Given the description of an element on the screen output the (x, y) to click on. 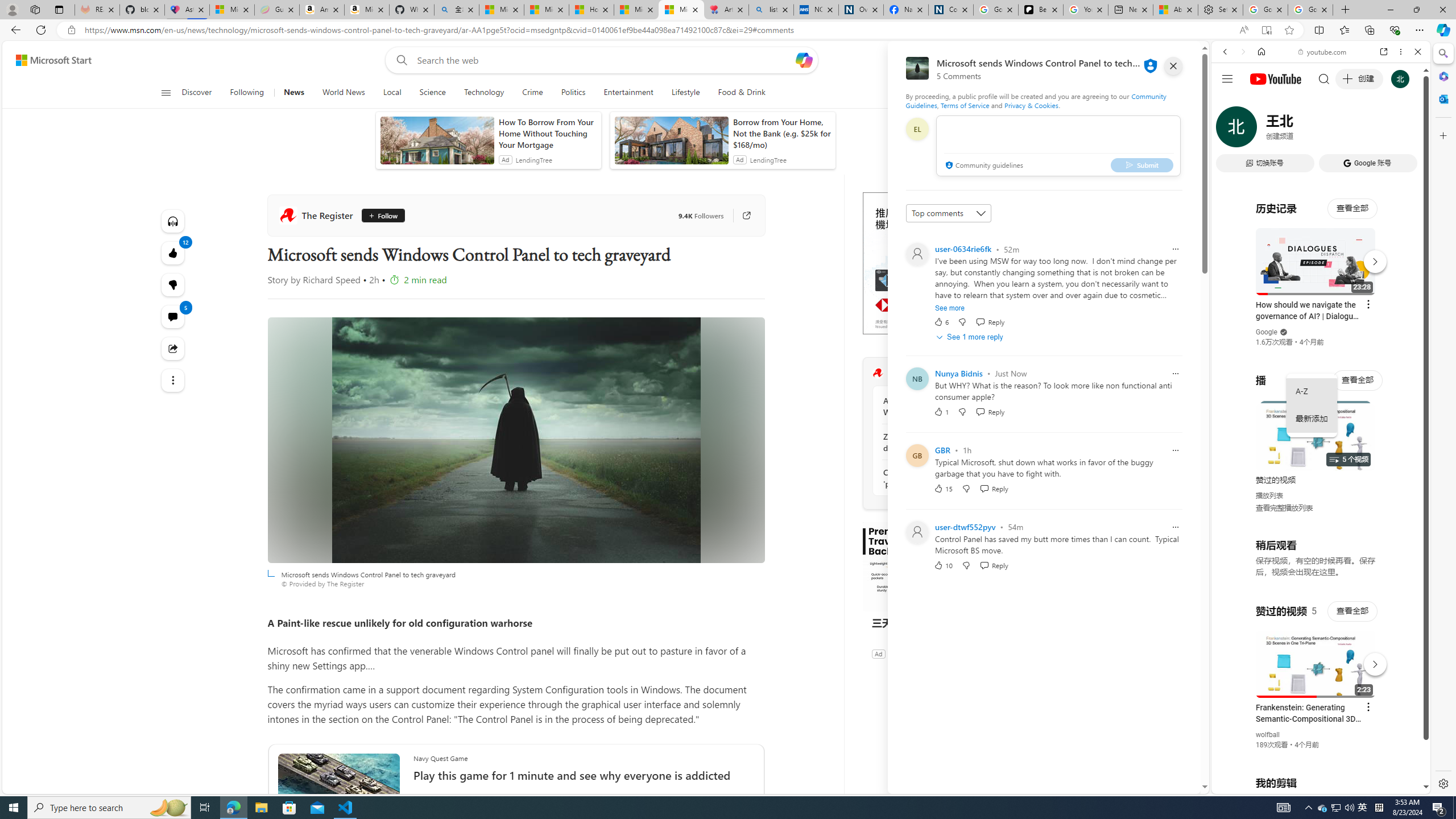
comment-box (1058, 145)
Reply Reply Comment (994, 564)
Asthma Inhalers: Names and Types (187, 9)
Search the web (1326, 78)
US[ju] (1249, 785)
A-Z (1311, 391)
list of asthma inhalers uk - Search (770, 9)
